Given the description of an element on the screen output the (x, y) to click on. 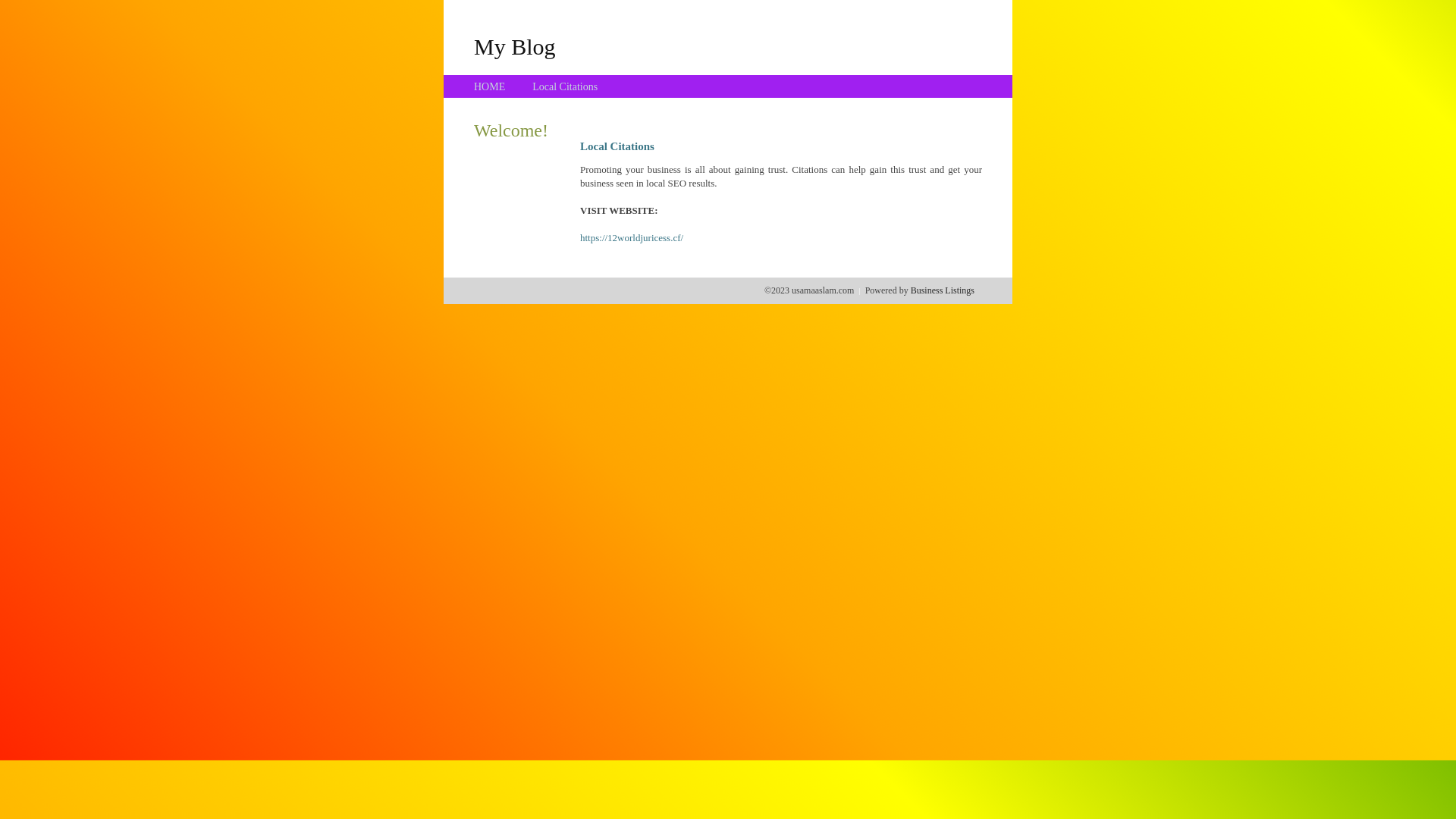
My Blog Element type: text (514, 46)
Business Listings Element type: text (942, 290)
https://12worldjuricess.cf/ Element type: text (631, 237)
HOME Element type: text (489, 86)
Local Citations Element type: text (564, 86)
